Given the description of an element on the screen output the (x, y) to click on. 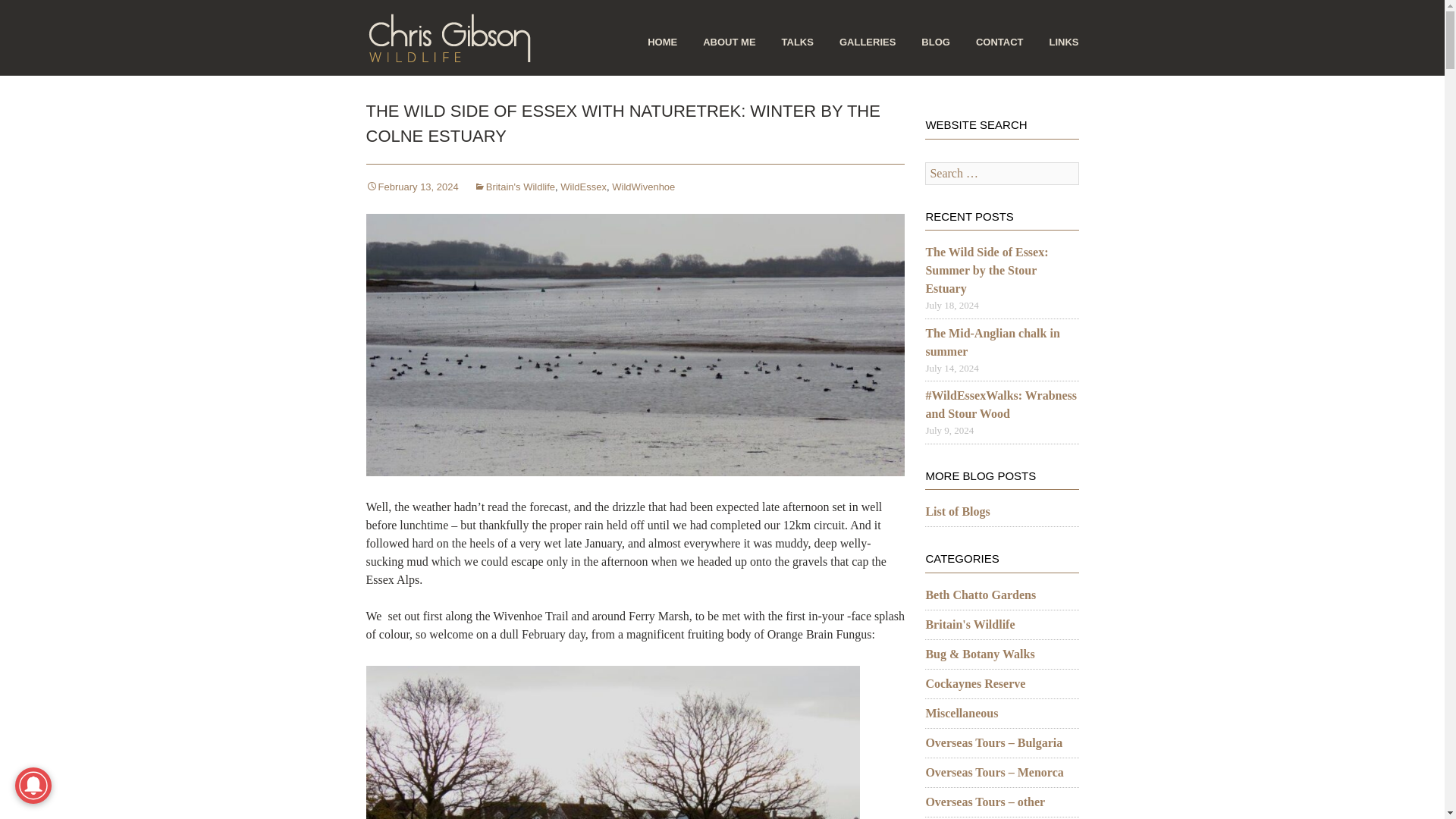
WildEssex (583, 186)
Chris Gibson Wildlife (448, 37)
CONTACT (999, 55)
GALLERIES (867, 55)
February 13, 2024 (411, 186)
ABOUT ME (729, 55)
WildWivenhoe (643, 186)
Britain's Wildlife (514, 186)
